Given the description of an element on the screen output the (x, y) to click on. 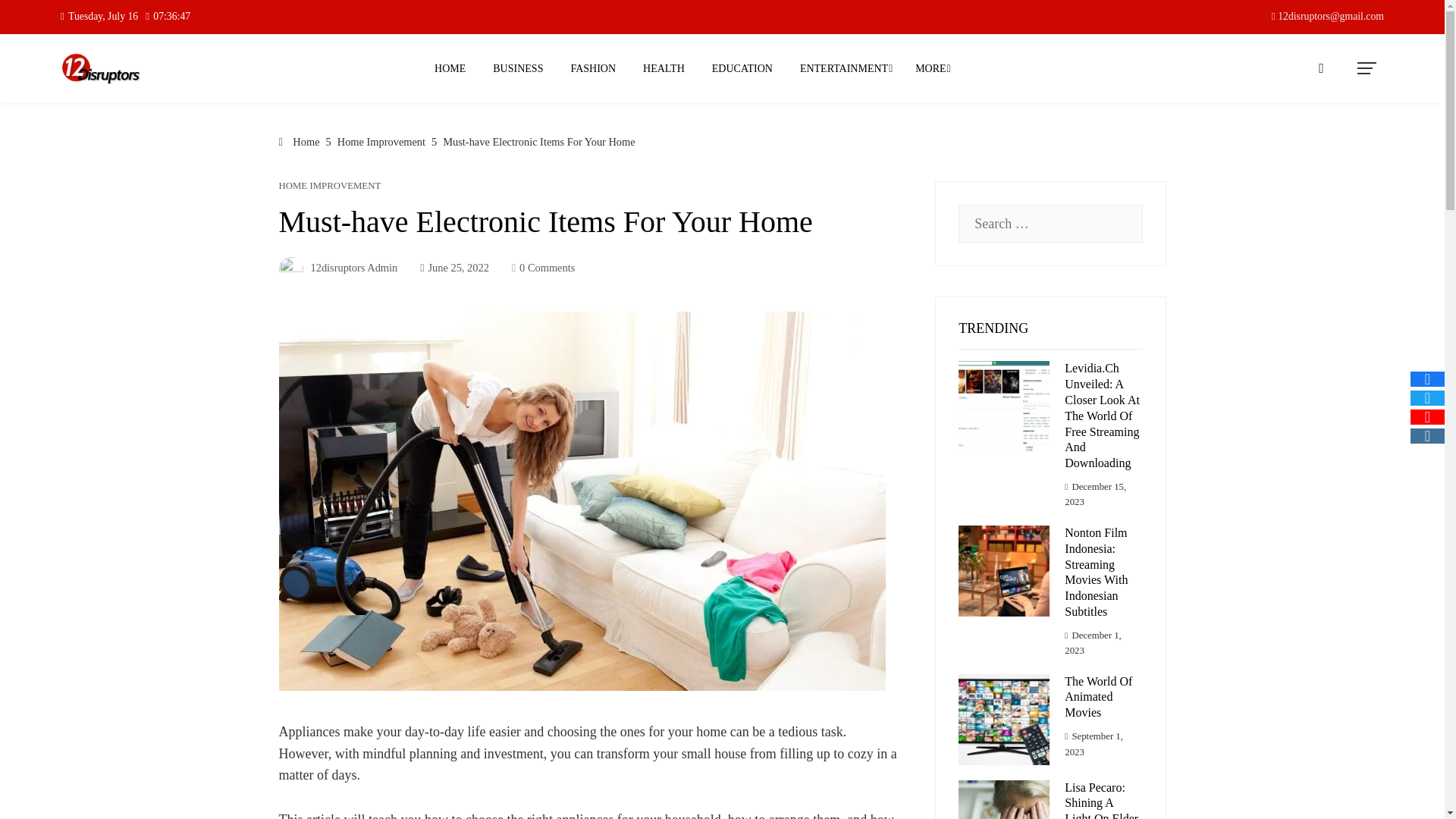
EDUCATION (742, 68)
HEALTH (663, 68)
FASHION (593, 68)
ENTERTAINMENT (844, 68)
BUSINESS (517, 68)
